Given the description of an element on the screen output the (x, y) to click on. 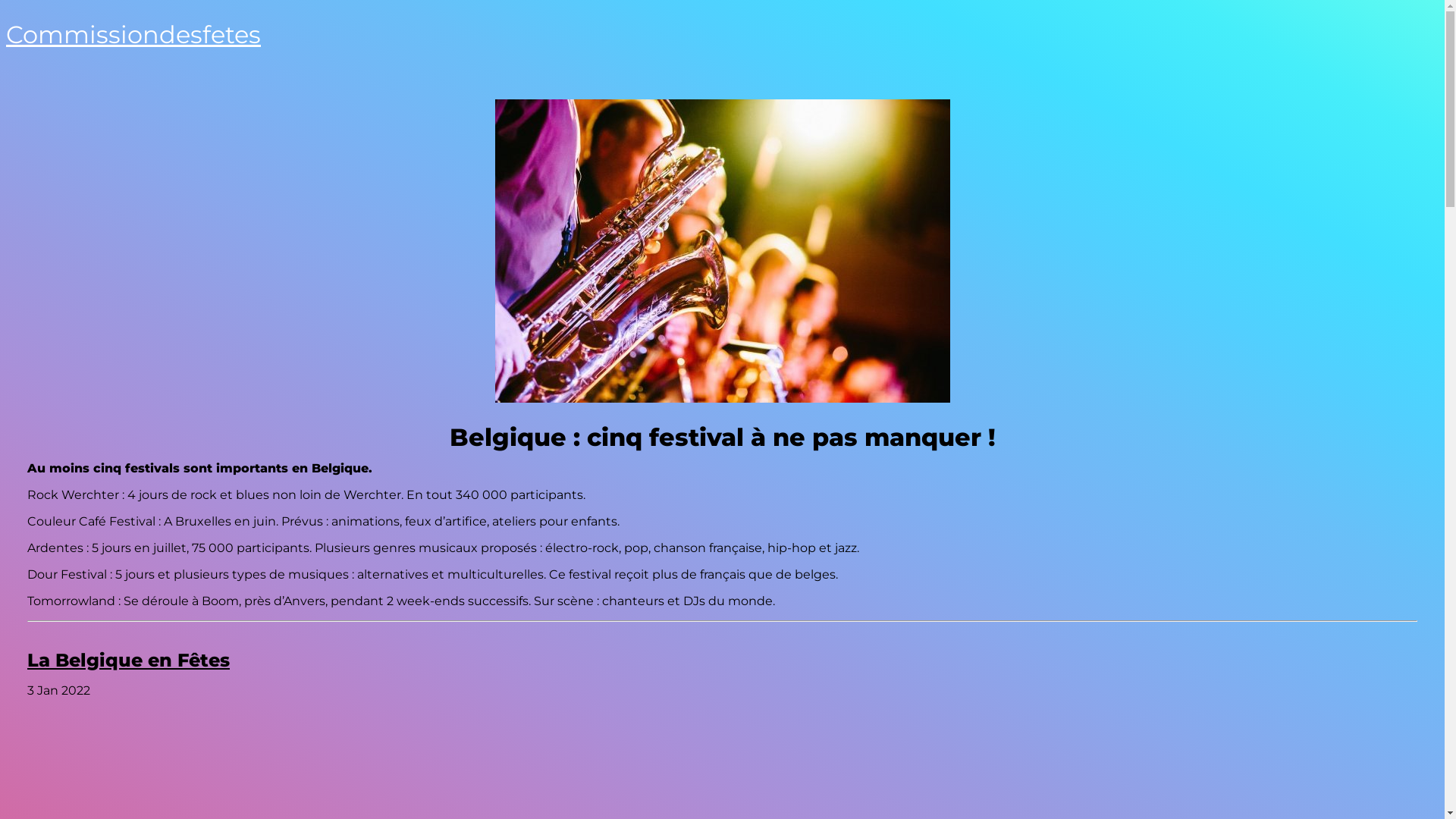
Commissiondesfetes Element type: text (133, 34)
